Given the description of an element on the screen output the (x, y) to click on. 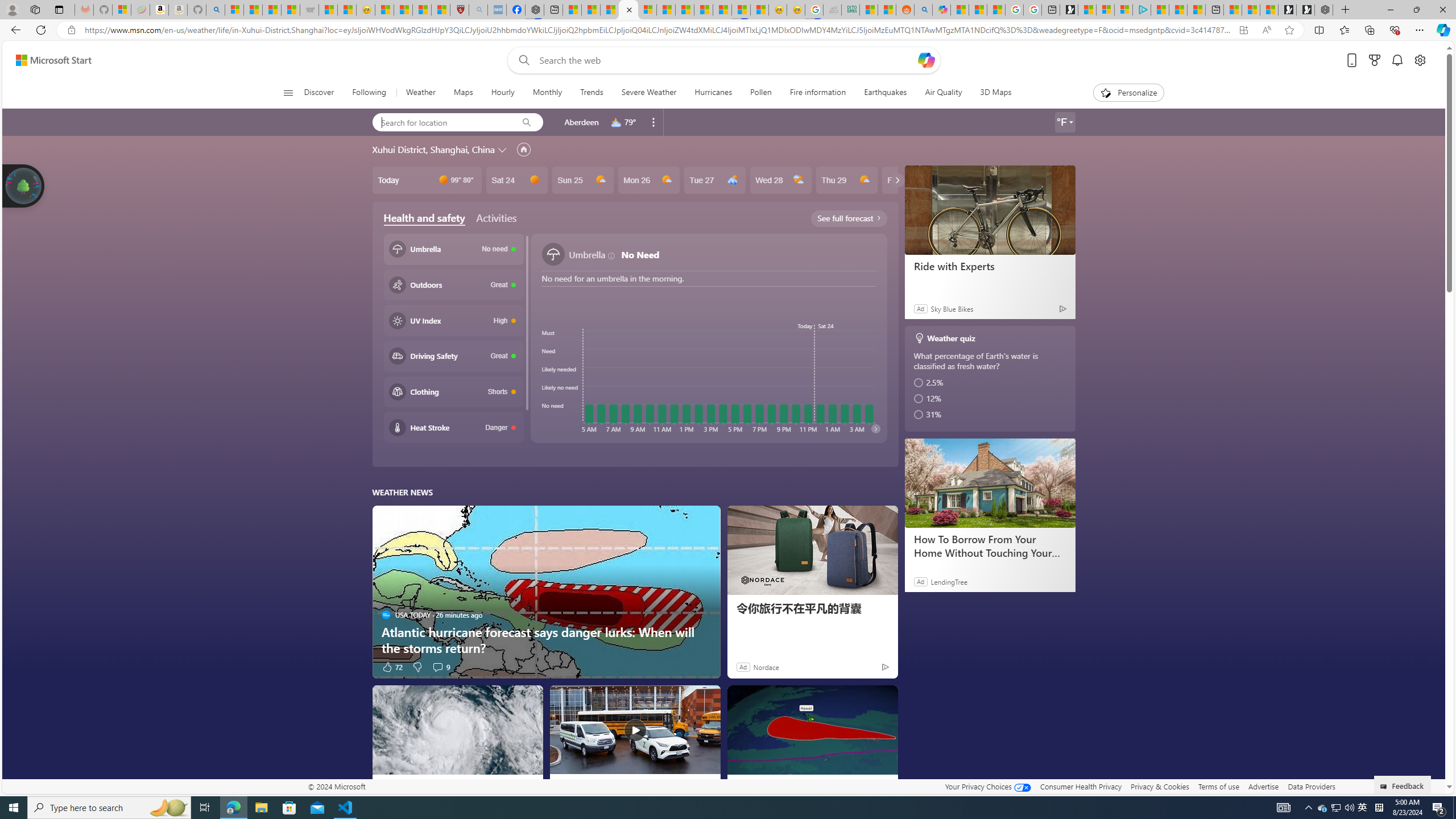
Weather settings (1064, 122)
Join us in planting real trees to help our planet! (23, 185)
Join us in planting real trees to help our planet! (23, 184)
Driving safety Great (453, 355)
Ride with Experts (989, 209)
Fire information (818, 92)
Mon 26 (648, 180)
